Given the description of an element on the screen output the (x, y) to click on. 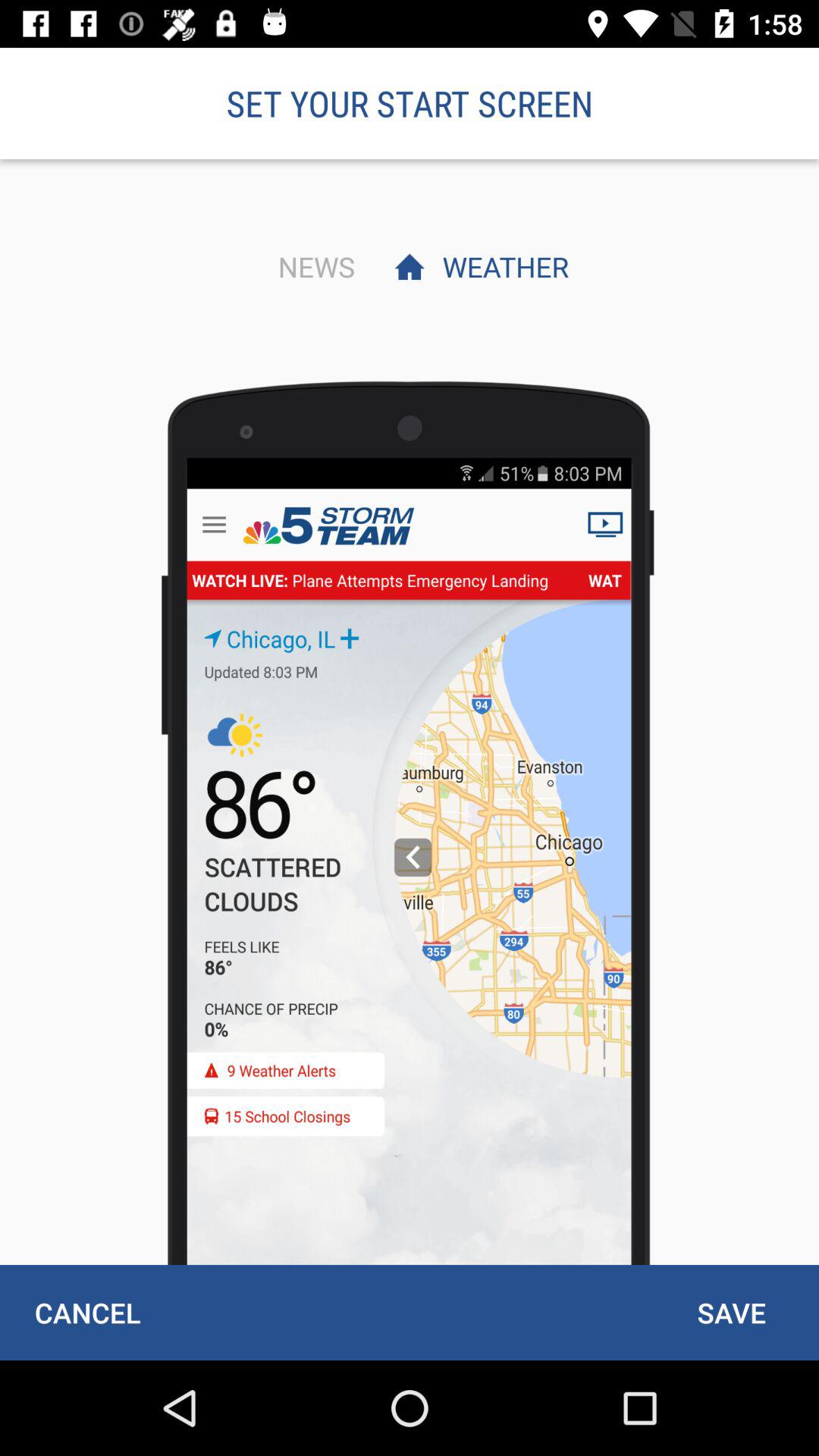
open icon next to the news (501, 266)
